Given the description of an element on the screen output the (x, y) to click on. 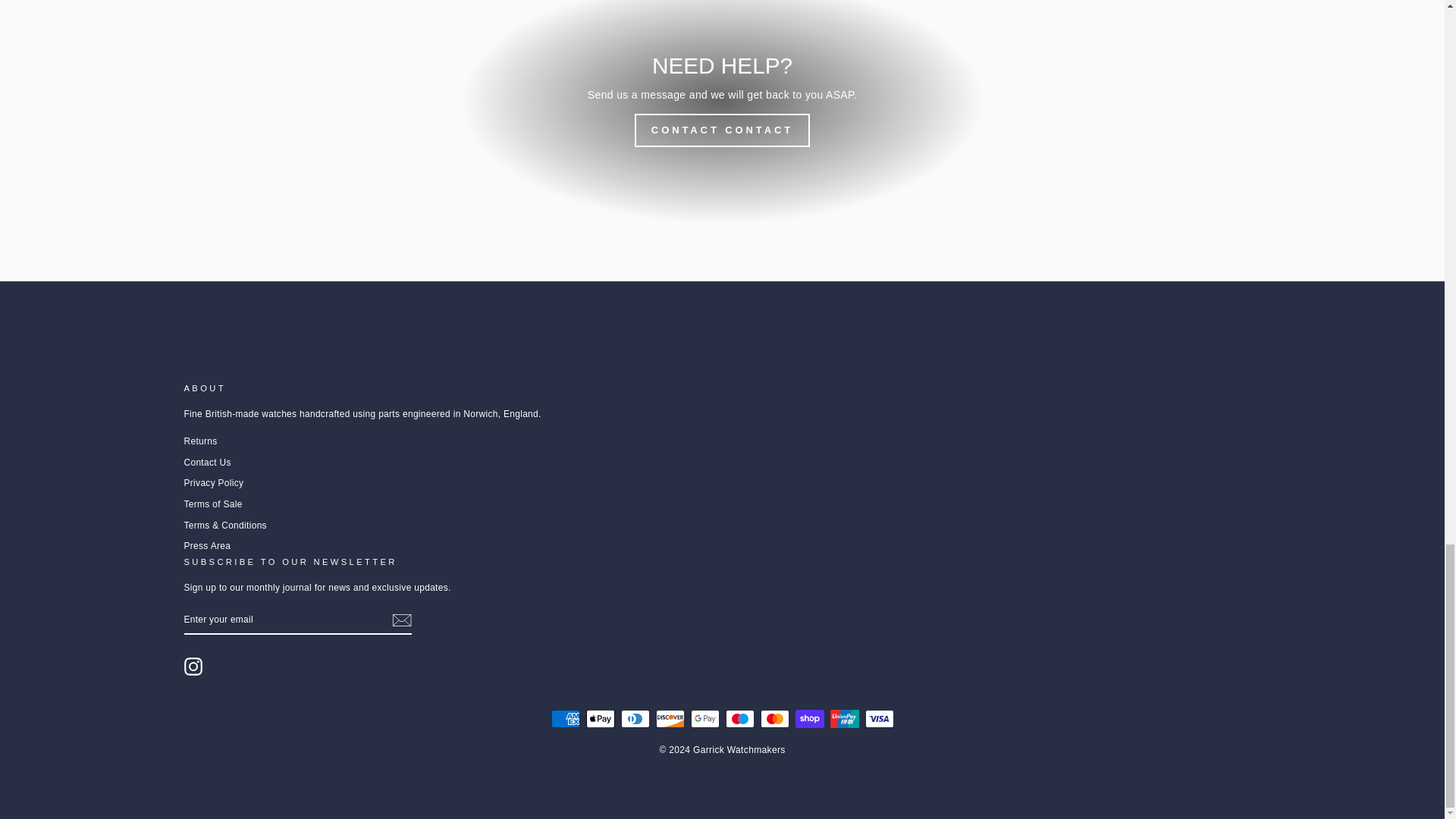
Mastercard (774, 719)
Google Pay (704, 719)
Apple Pay (599, 719)
instagram (192, 666)
Discover (669, 719)
icon-email (400, 619)
Shop Pay (809, 719)
Union Pay (844, 719)
American Express (564, 719)
Diners Club (634, 719)
